Given the description of an element on the screen output the (x, y) to click on. 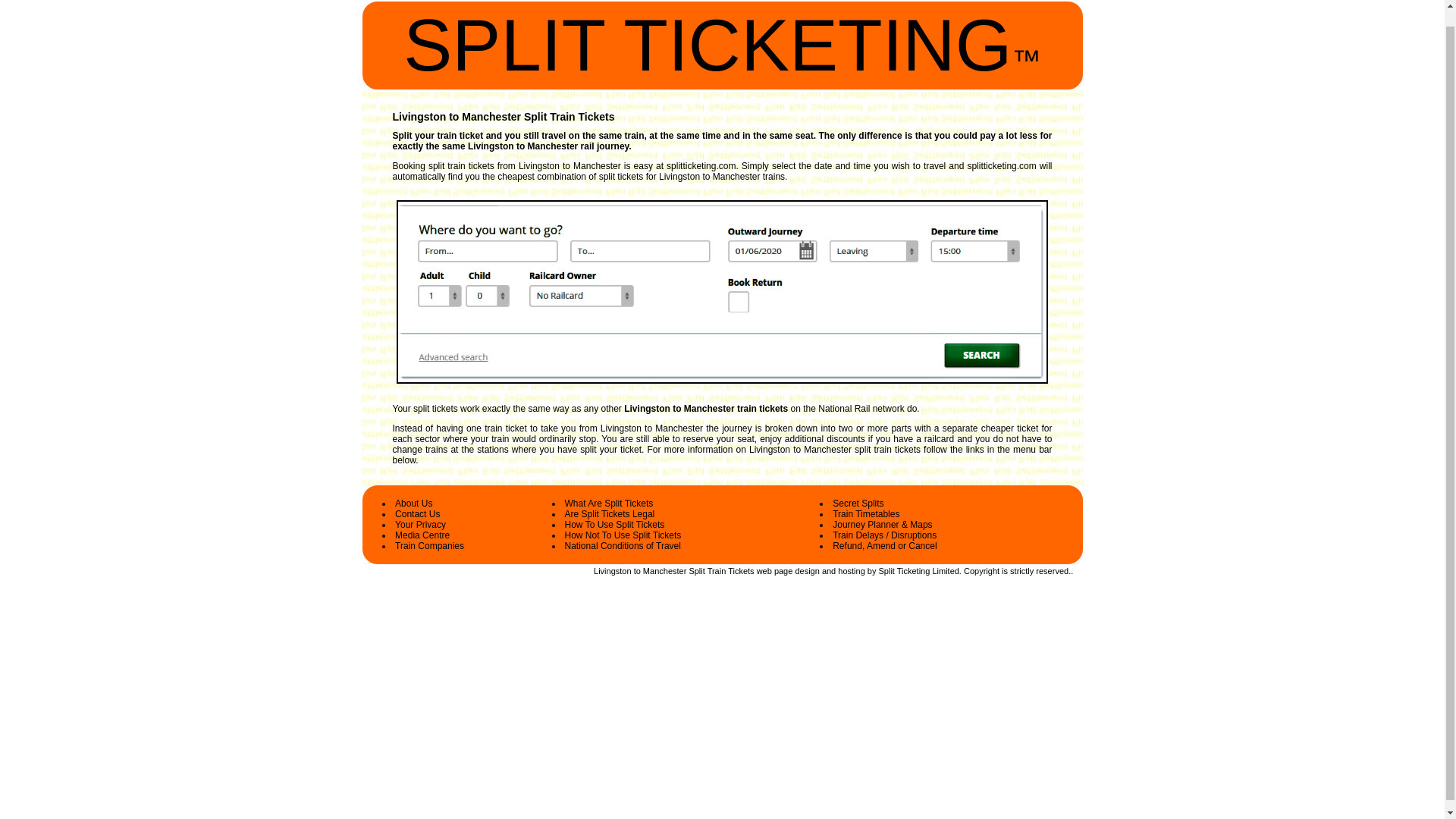
Copyright (980, 570)
How Not To Use Split Tickets (622, 534)
Secret Splits (857, 502)
What Are Split Tickets (608, 502)
Train Companies (429, 545)
Train Timetables (865, 513)
How To Use Split Tickets (614, 524)
Are Split Tickets Legal (609, 513)
Contact Us (416, 513)
Media Centre (421, 534)
Livingston to Manchester Split Train Tickets web (682, 570)
Your Privacy (419, 524)
National Conditions of Travel (622, 545)
Refund, Amend or Cancel (884, 545)
About Us (413, 502)
